Given the description of an element on the screen output the (x, y) to click on. 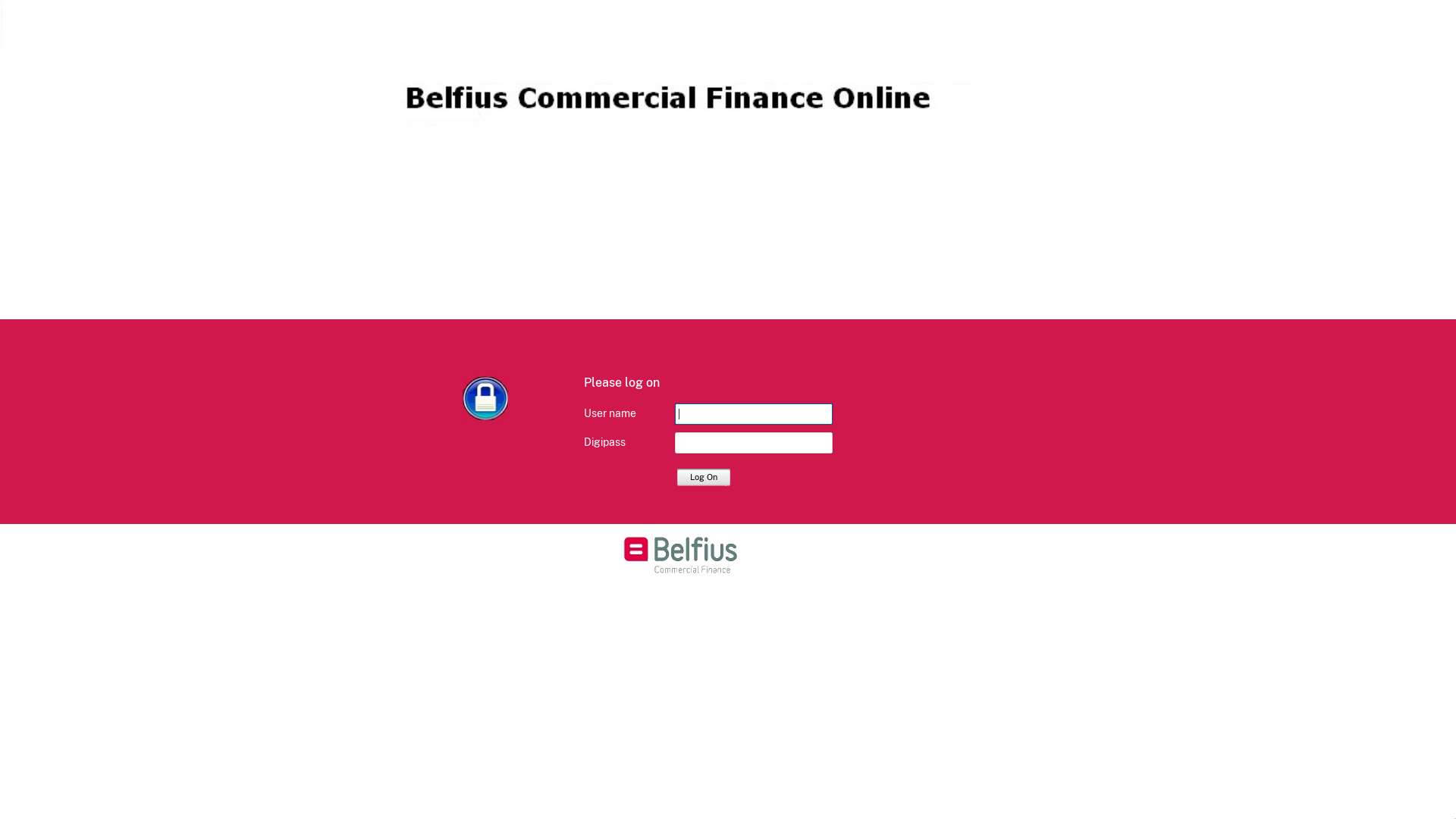
Log On Element type: text (703, 476)
